Given the description of an element on the screen output the (x, y) to click on. 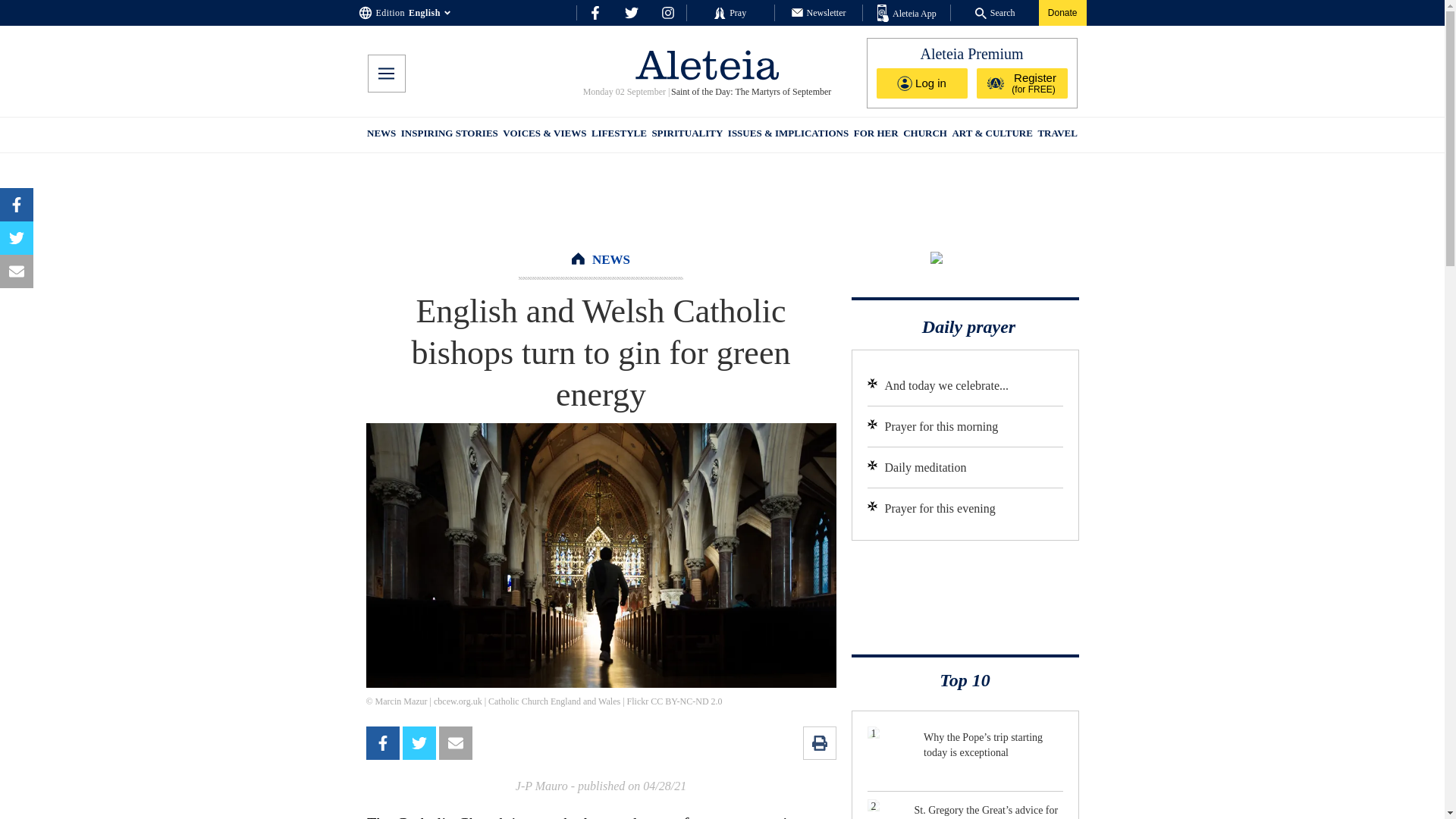
Saint of the Day: The Martyrs of September (750, 91)
Pray (729, 12)
FOR HER (875, 134)
Log in (922, 82)
Aleteia App (906, 13)
social-fb-top-row (595, 12)
NEWS (611, 259)
Newsletter (818, 12)
social-tw-top-row (631, 12)
J-P Mauro (541, 785)
